Given the description of an element on the screen output the (x, y) to click on. 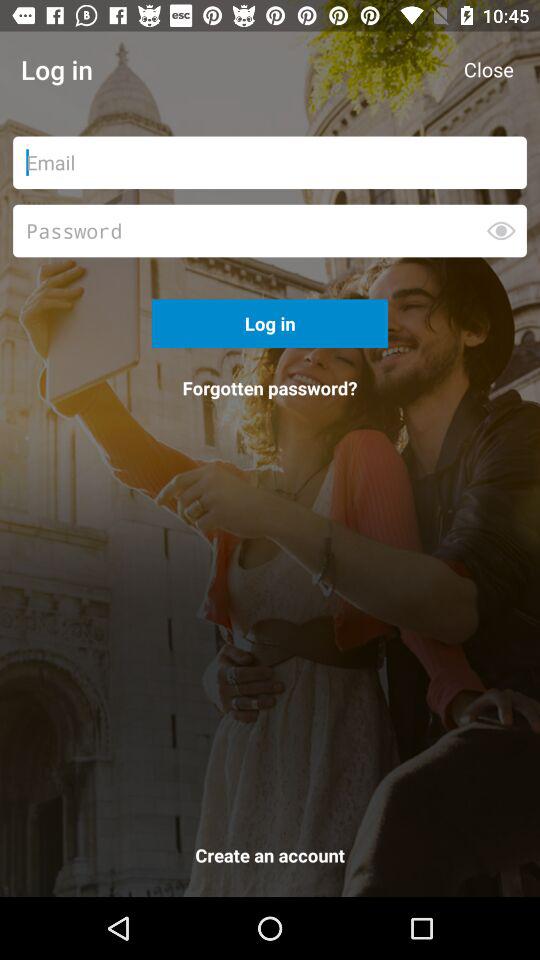
launch the close (488, 69)
